Given the description of an element on the screen output the (x, y) to click on. 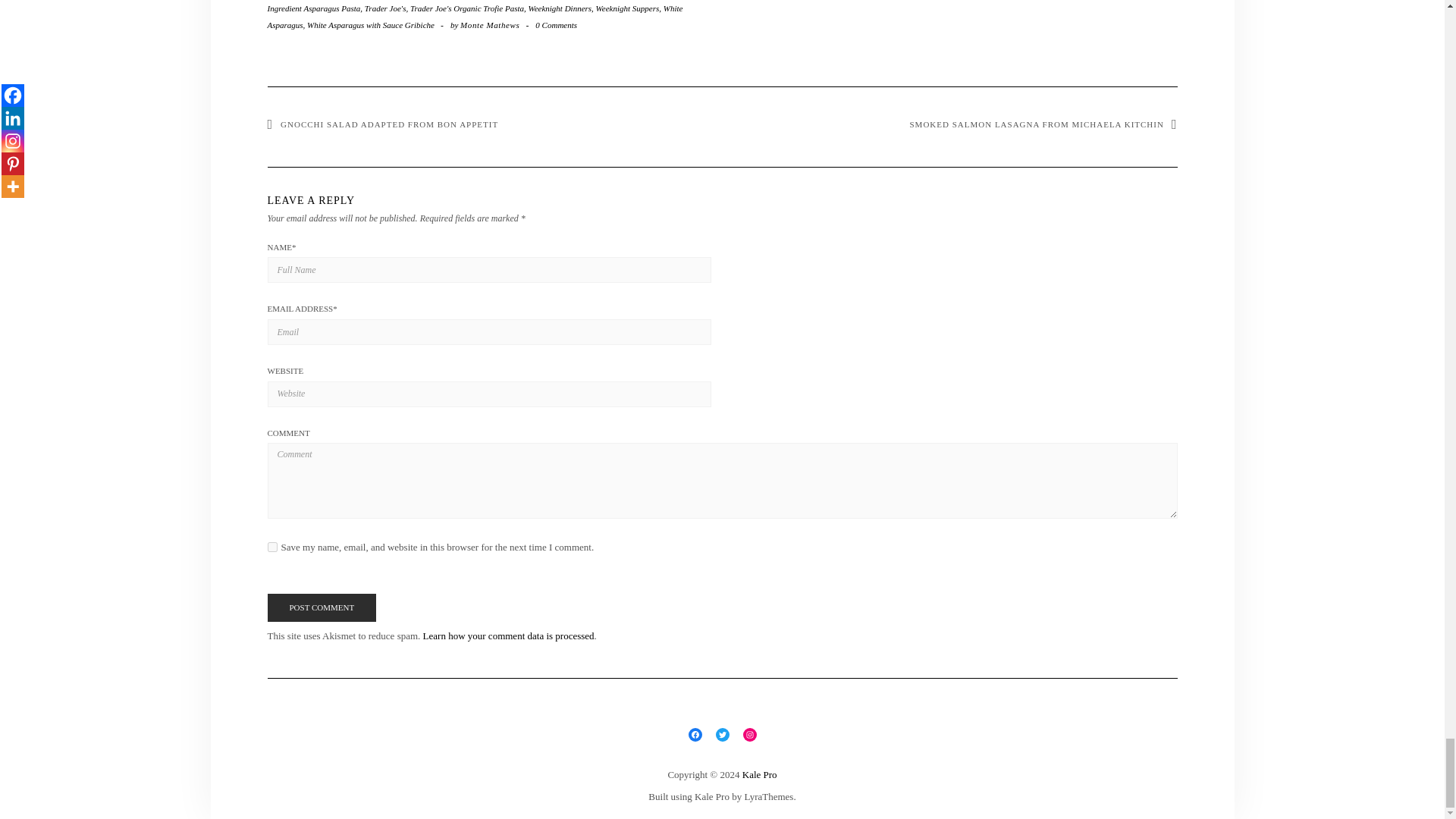
Post Comment (320, 607)
yes (271, 547)
